Given the description of an element on the screen output the (x, y) to click on. 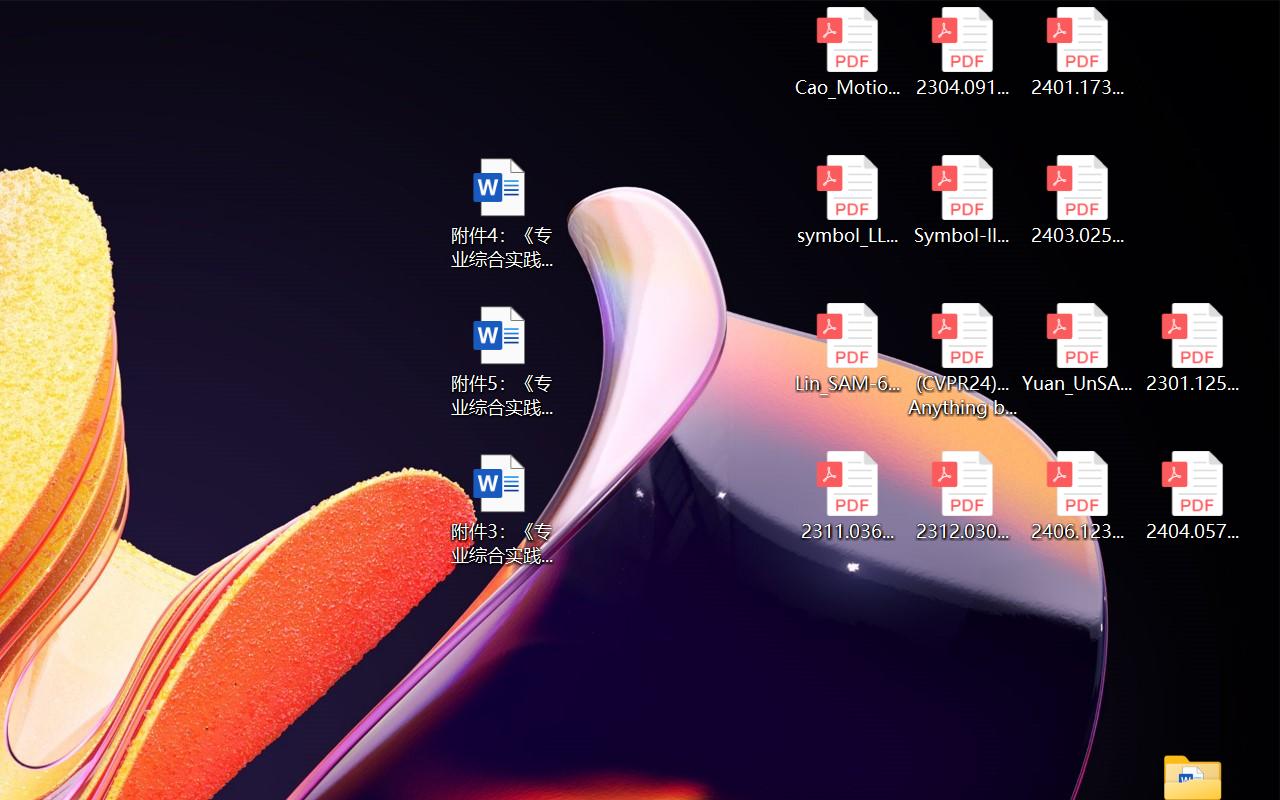
Set the Wolf on the current file. (1131, 105)
